Given the description of an element on the screen output the (x, y) to click on. 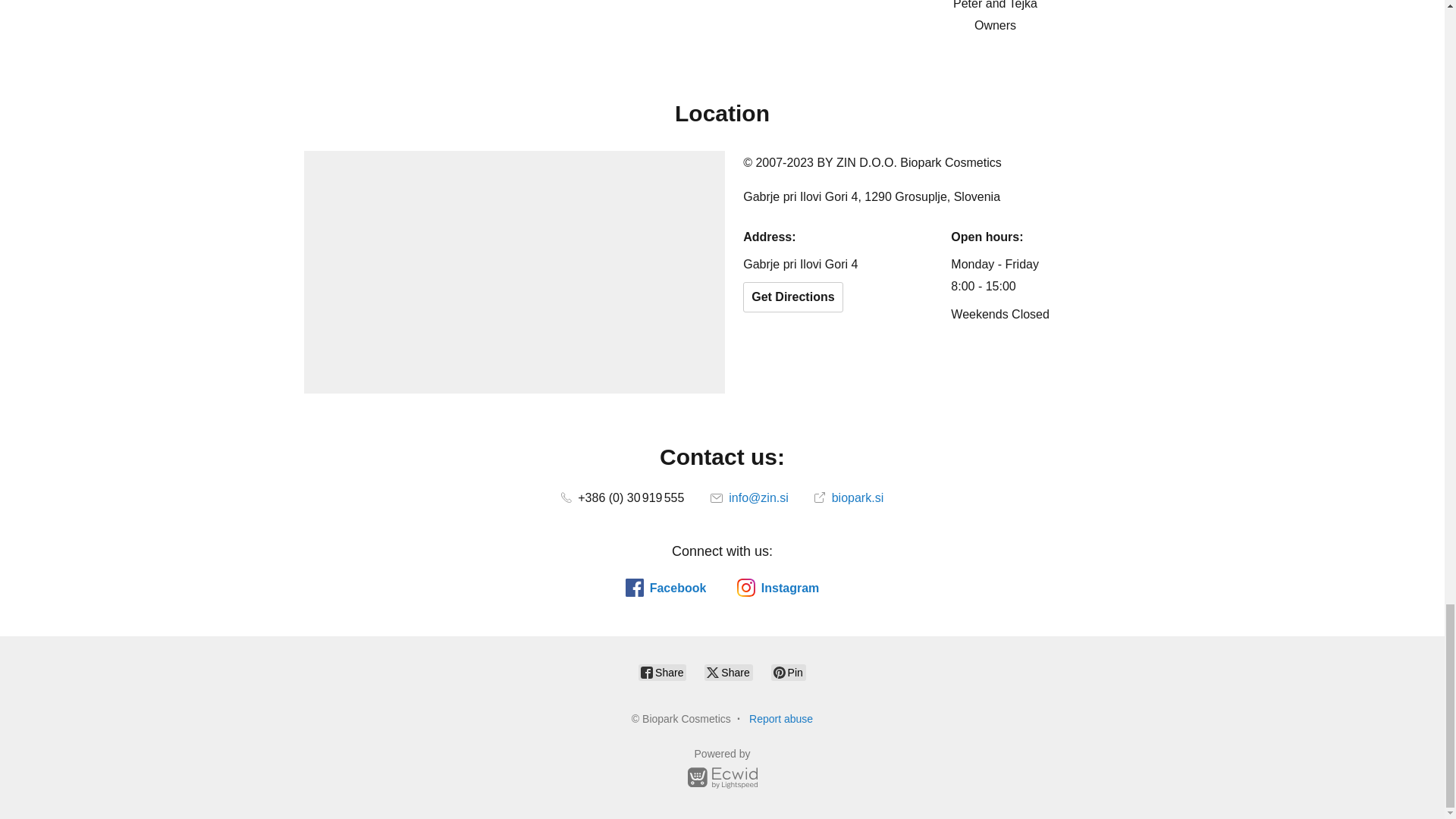
biopark.si (848, 497)
Report abuse (780, 718)
Pin (788, 672)
Get Directions (792, 296)
Facebook (666, 587)
Location on map (513, 271)
Share (728, 672)
Instagram (777, 587)
Share (662, 672)
